Given the description of an element on the screen output the (x, y) to click on. 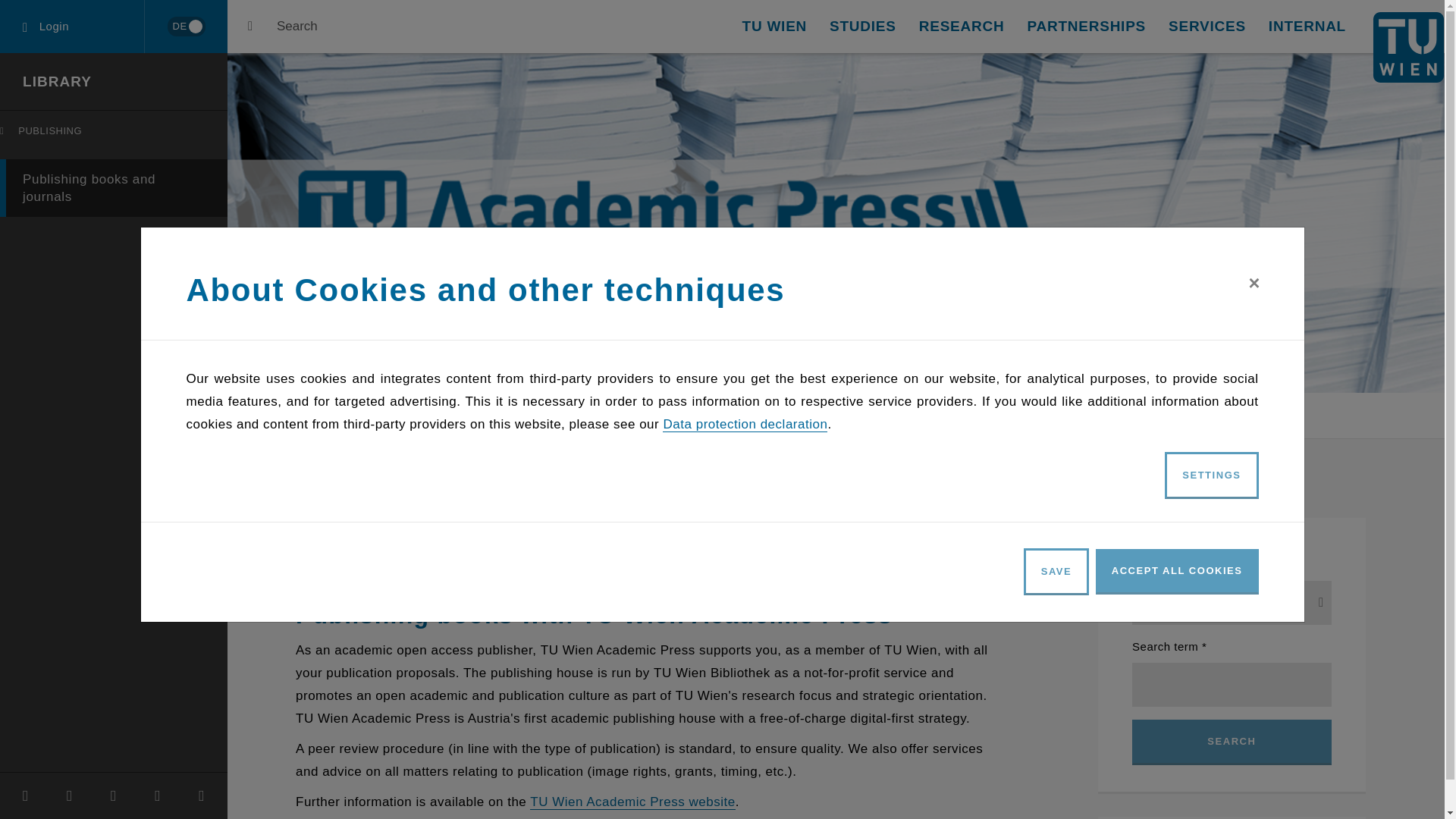
TU WIEN (774, 26)
DE (185, 26)
Publishing books and journals (117, 134)
STUDIES (113, 187)
Wechseln zu Deutsch (862, 26)
Login (186, 26)
LIBRARY (72, 26)
TU Wien - homepage (57, 81)
